Given the description of an element on the screen output the (x, y) to click on. 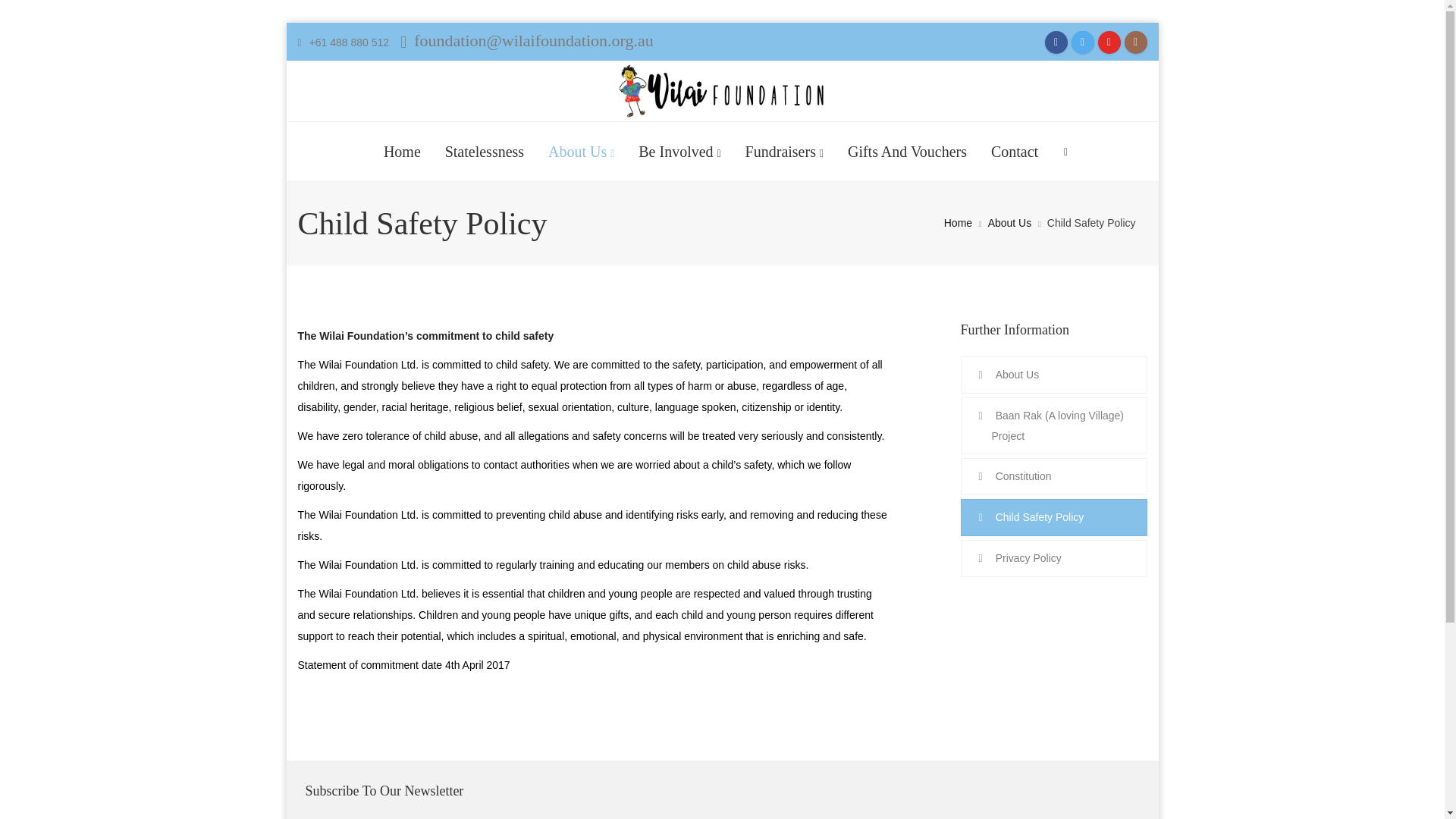
Fundraisers Element type: text (784, 151)
foundation@wilaifoundation.org.au Element type: text (526, 40)
Gifts And Vouchers Element type: text (907, 151)
Baan Rak (A loving Village) Project Element type: text (1053, 425)
Contact Element type: text (1014, 151)
Child Safety Policy Element type: text (1053, 517)
Home Element type: text (402, 151)
Wilai Foundation Ltd. - It takes a village to raise a child Element type: hover (721, 90)
About Us Element type: text (1053, 374)
About Us Element type: text (580, 151)
Home Element type: text (958, 222)
Constitution Element type: text (1053, 476)
Statelessness Element type: text (484, 151)
Privacy Policy Element type: text (1053, 558)
Be Involved Element type: text (679, 151)
About Us Element type: text (1003, 222)
